Given the description of an element on the screen output the (x, y) to click on. 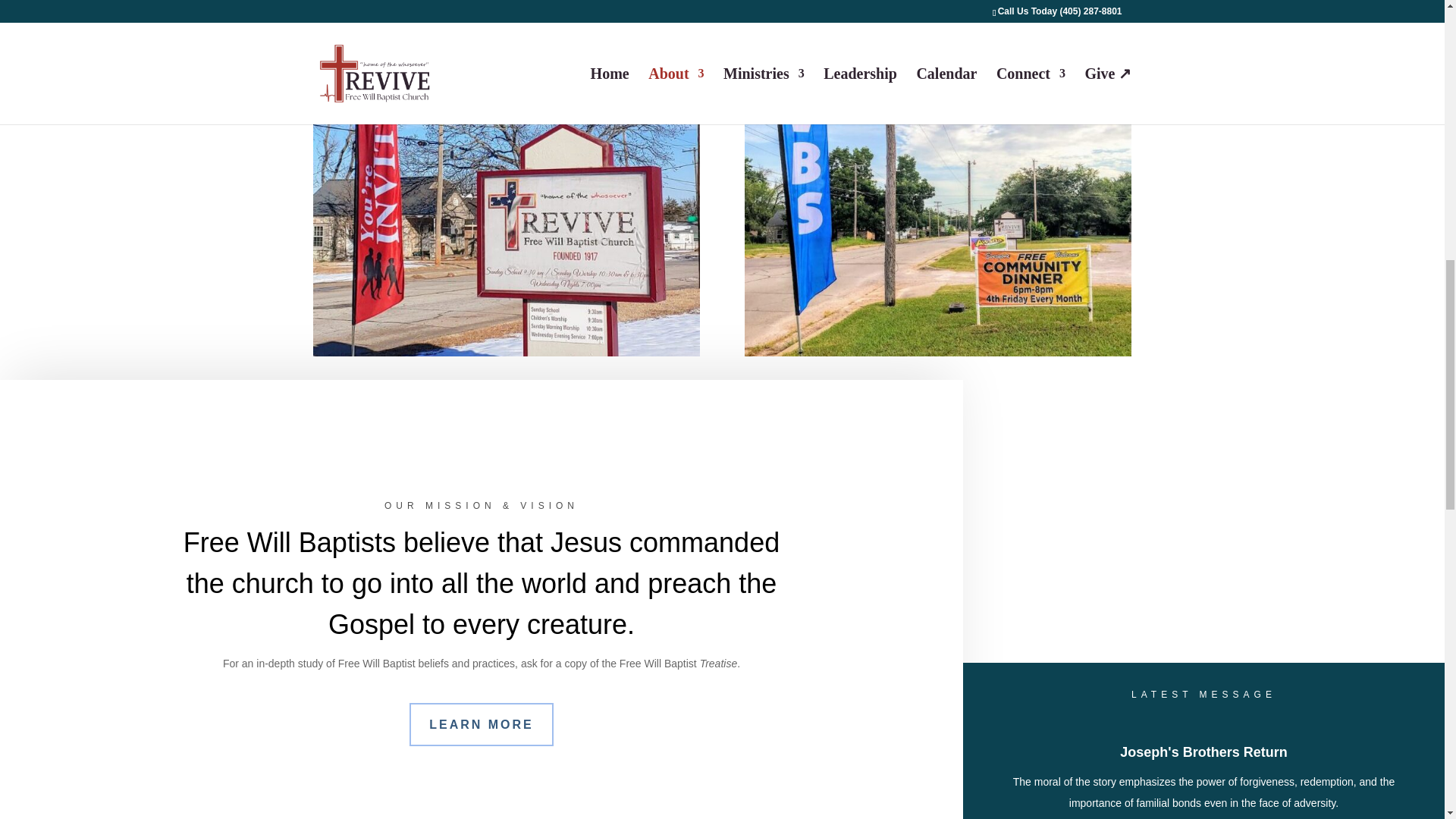
LEARN MORE (480, 724)
YouTube video player (1174, 536)
Revive You're Invited (505, 192)
